Given the description of an element on the screen output the (x, y) to click on. 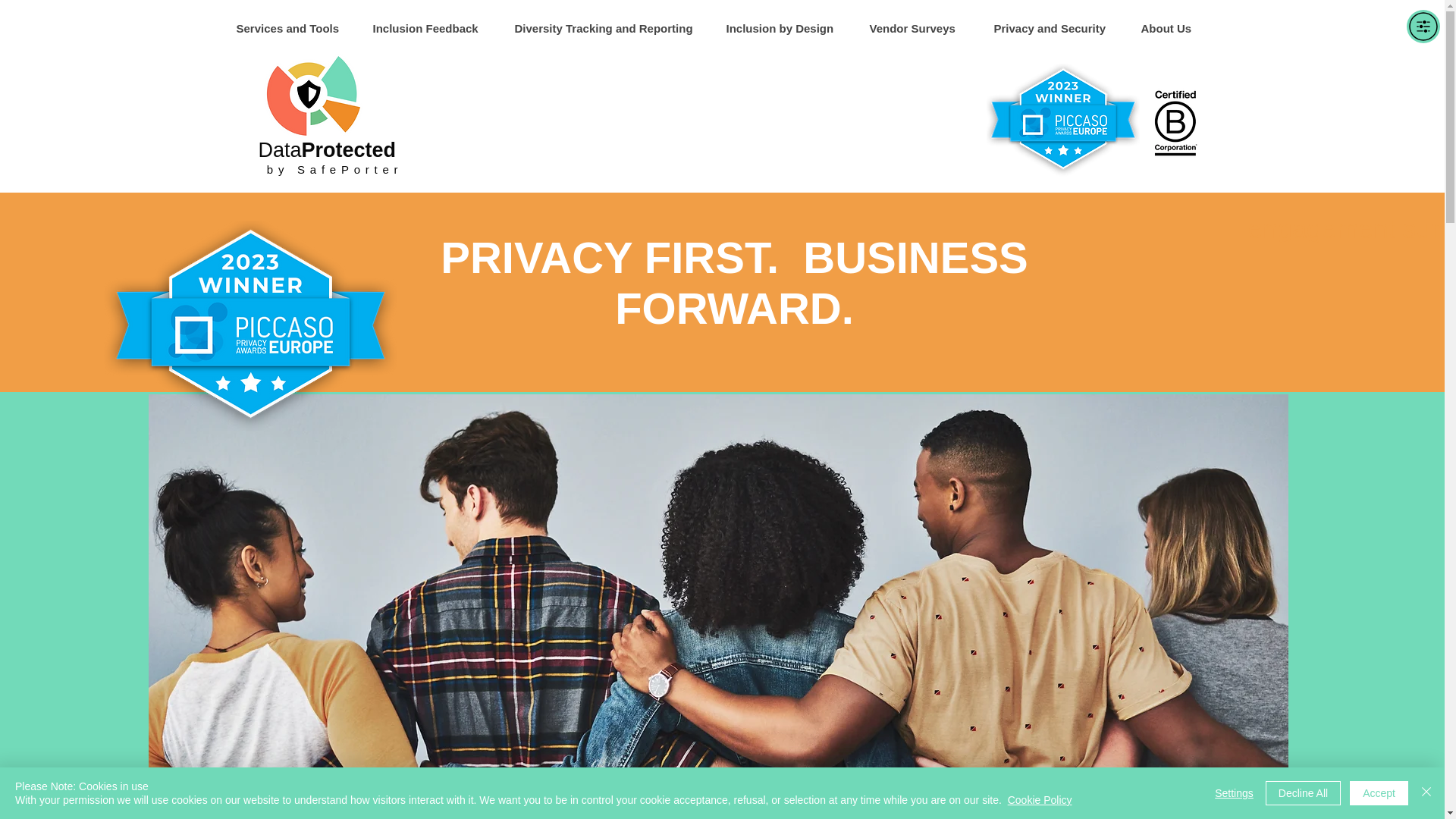
Accept (1378, 793)
Diversity Tracking and Reporting (607, 28)
About Us (1174, 28)
Inclusion Feedback (431, 28)
Services and Tools (291, 28)
Prieinamumo meniu (1422, 26)
PICCASSO-BADGE-WINNER2023.png (249, 330)
Cookie Policy (1039, 799)
Inclusion by Design (785, 28)
Privacy and Security (1054, 28)
